Given the description of an element on the screen output the (x, y) to click on. 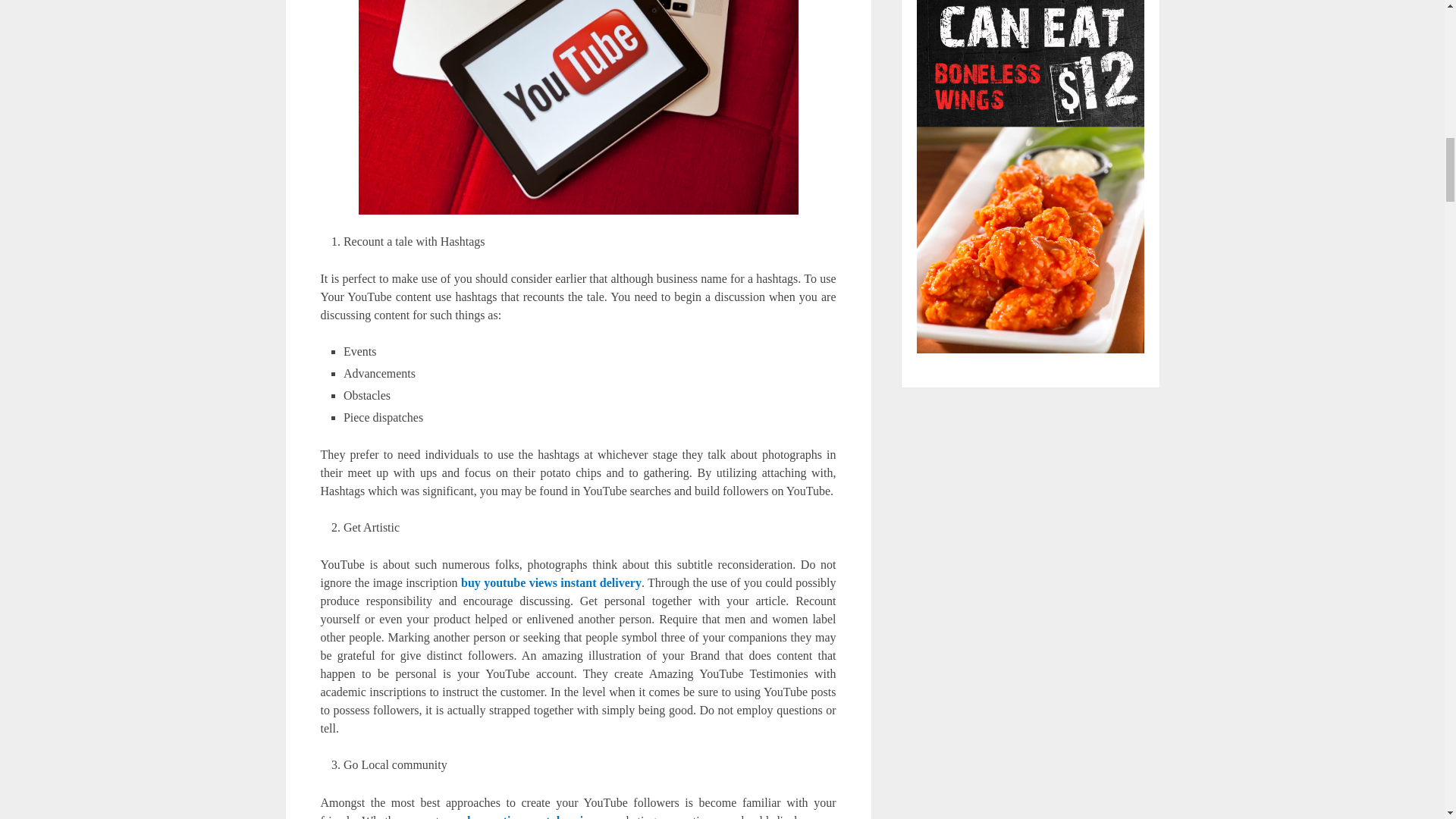
buy youtube views instant delivery (551, 582)
buy active youtube views (534, 816)
